Given the description of an element on the screen output the (x, y) to click on. 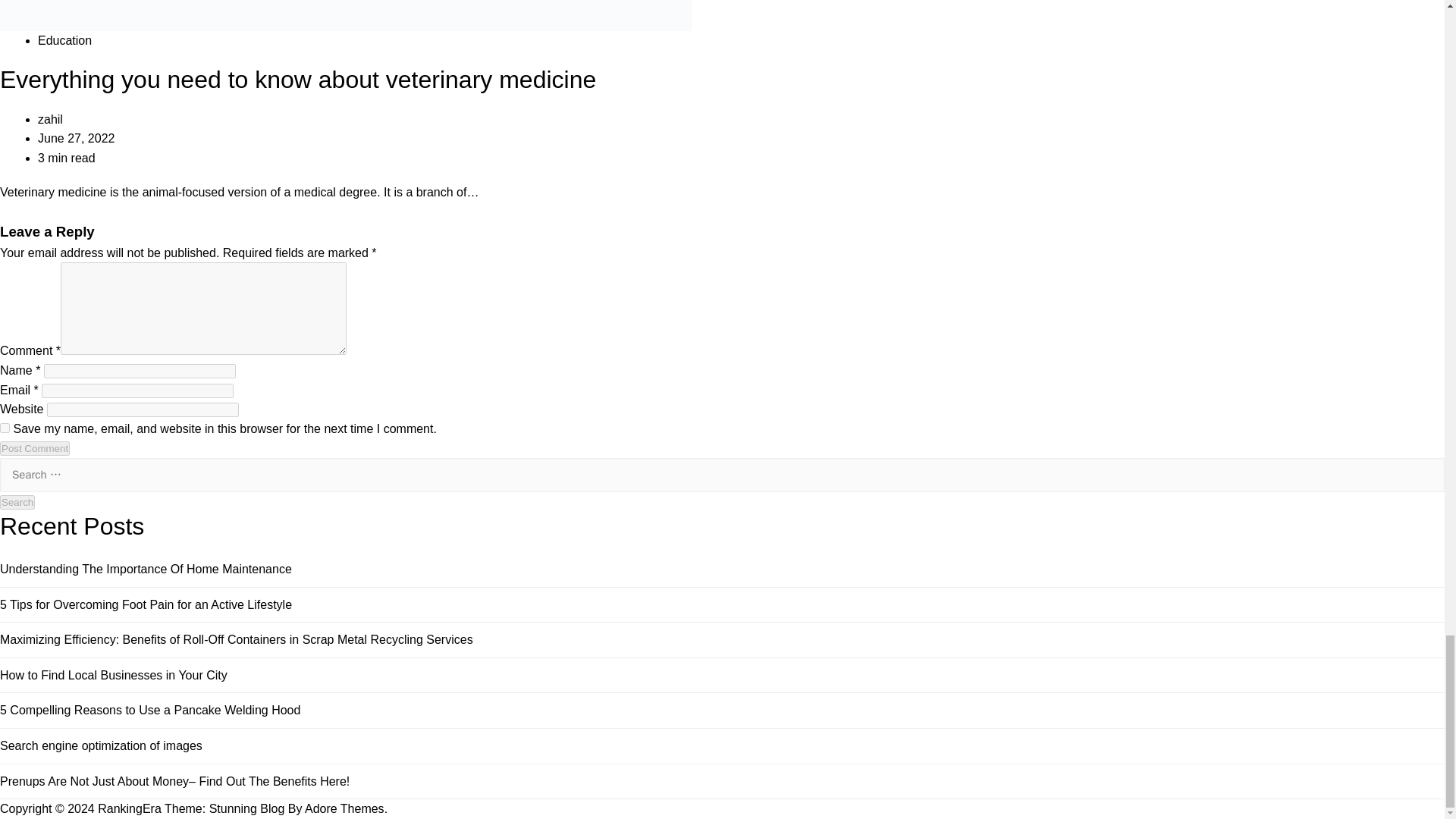
Post Comment (34, 448)
yes (5, 428)
Search (17, 502)
Search (17, 502)
Everything you need to know about veterinary medicine (297, 79)
Education (64, 40)
